Given the description of an element on the screen output the (x, y) to click on. 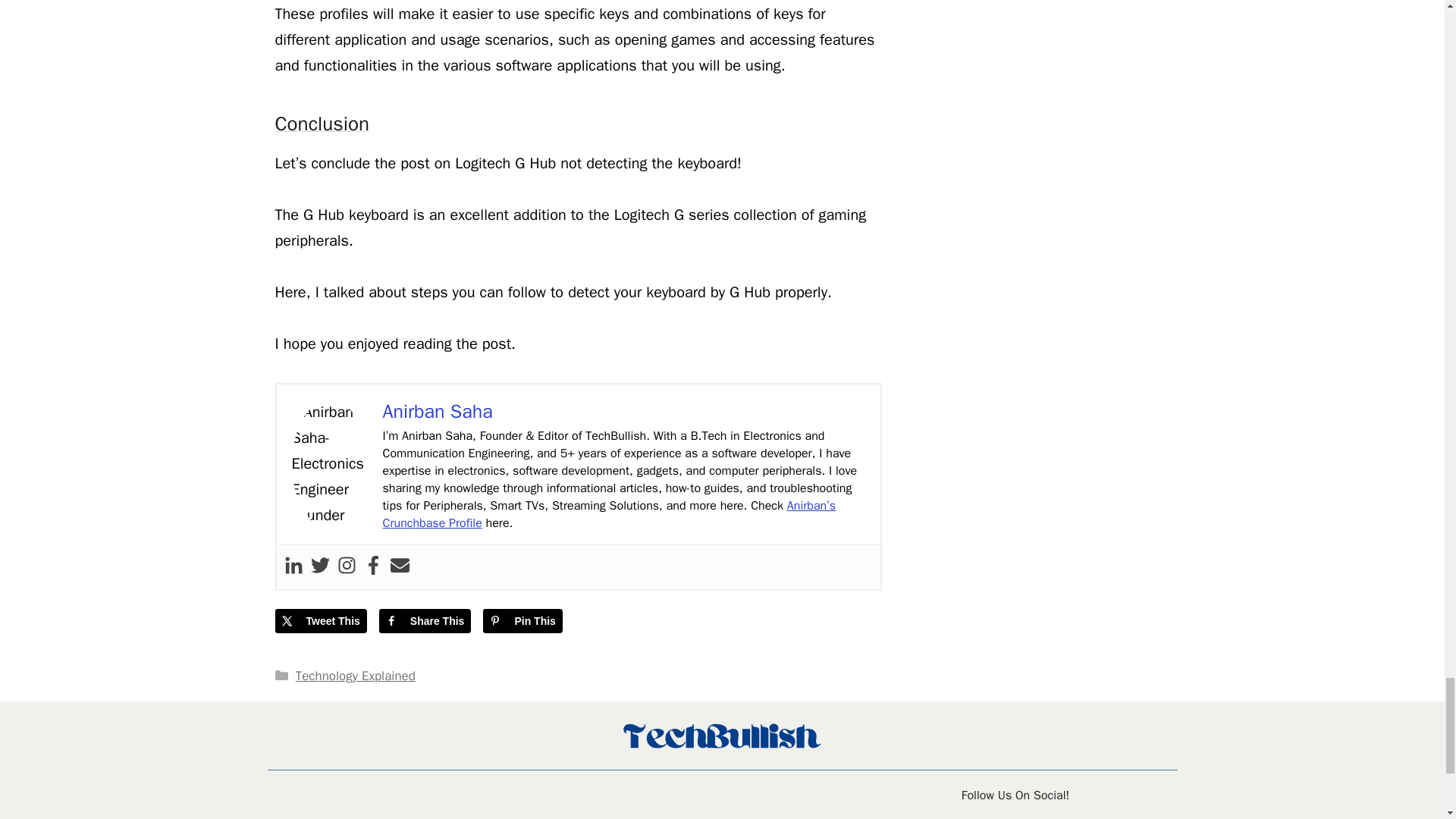
Save to Pinterest (522, 621)
Share This (424, 621)
Anirban Saha (436, 411)
Tweet This (320, 621)
Technology Explained (354, 675)
Pin This (522, 621)
Share on Facebook (424, 621)
Share on X (320, 621)
